Given the description of an element on the screen output the (x, y) to click on. 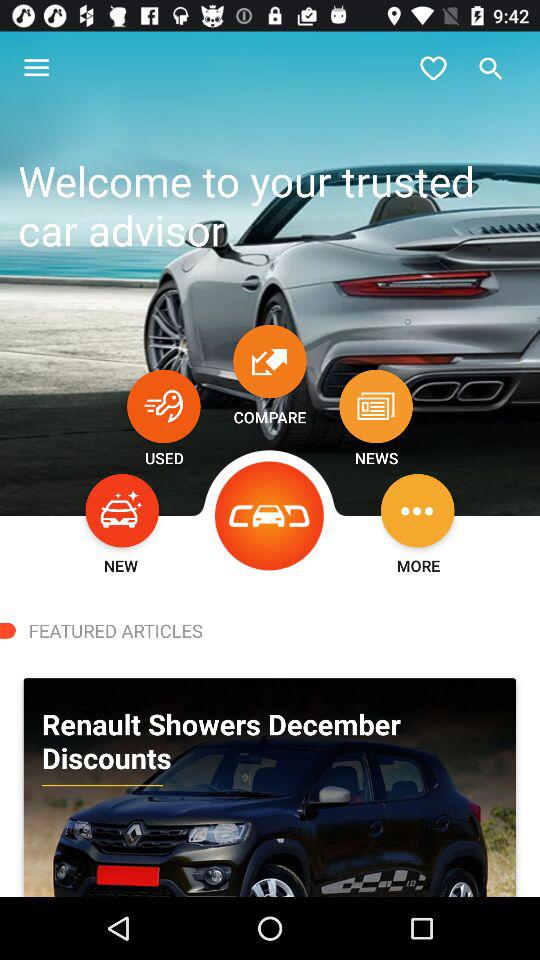
view more options (417, 510)
